Given the description of an element on the screen output the (x, y) to click on. 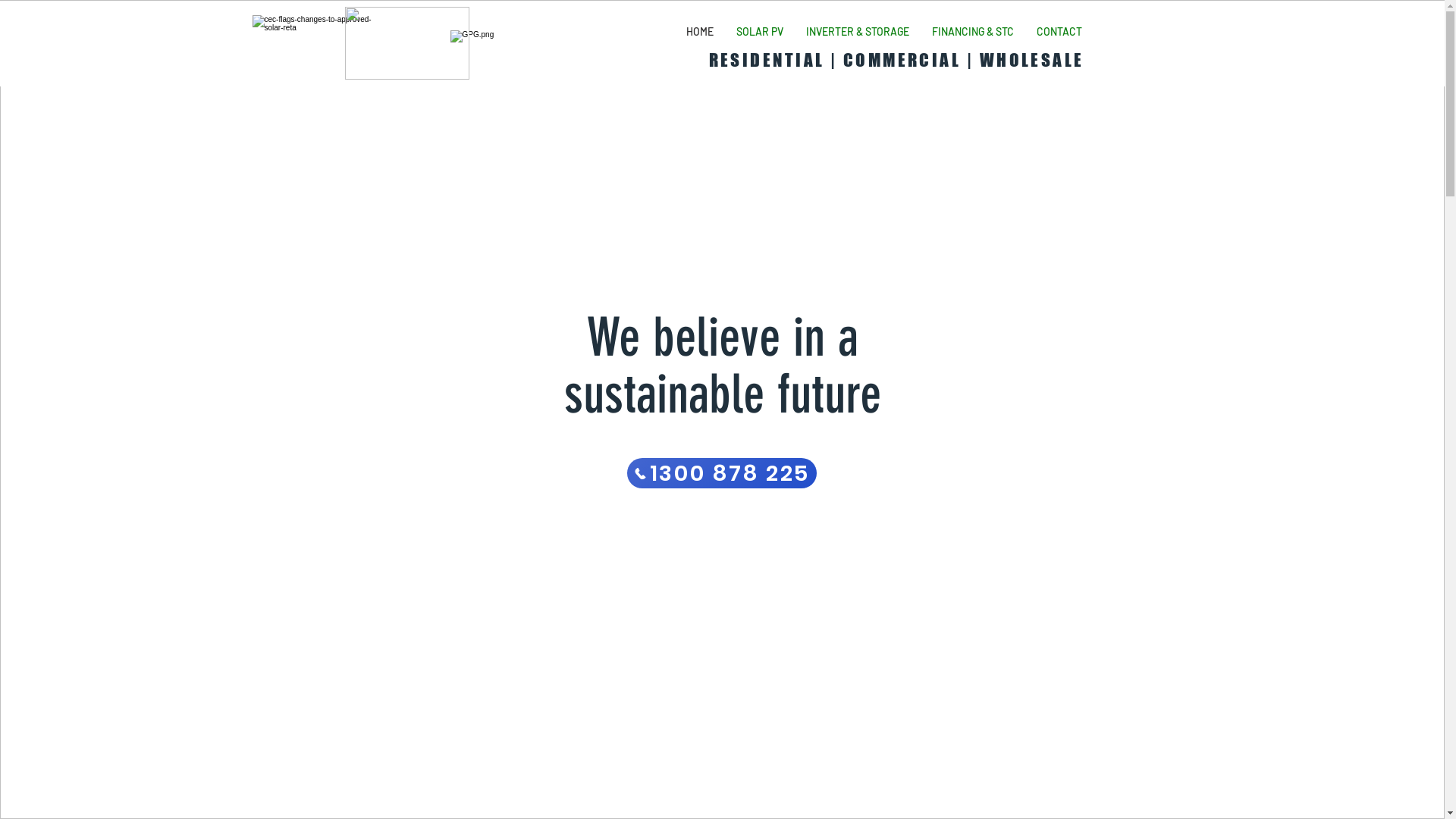
INVERTER & STORAGE Element type: text (857, 31)
1300 878 225 Element type: text (720, 473)
CONTACT Element type: text (1059, 31)
FINANCING & STC Element type: text (972, 31)
SOLAR PV Element type: text (759, 31)
HOME Element type: text (699, 31)
